Given the description of an element on the screen output the (x, y) to click on. 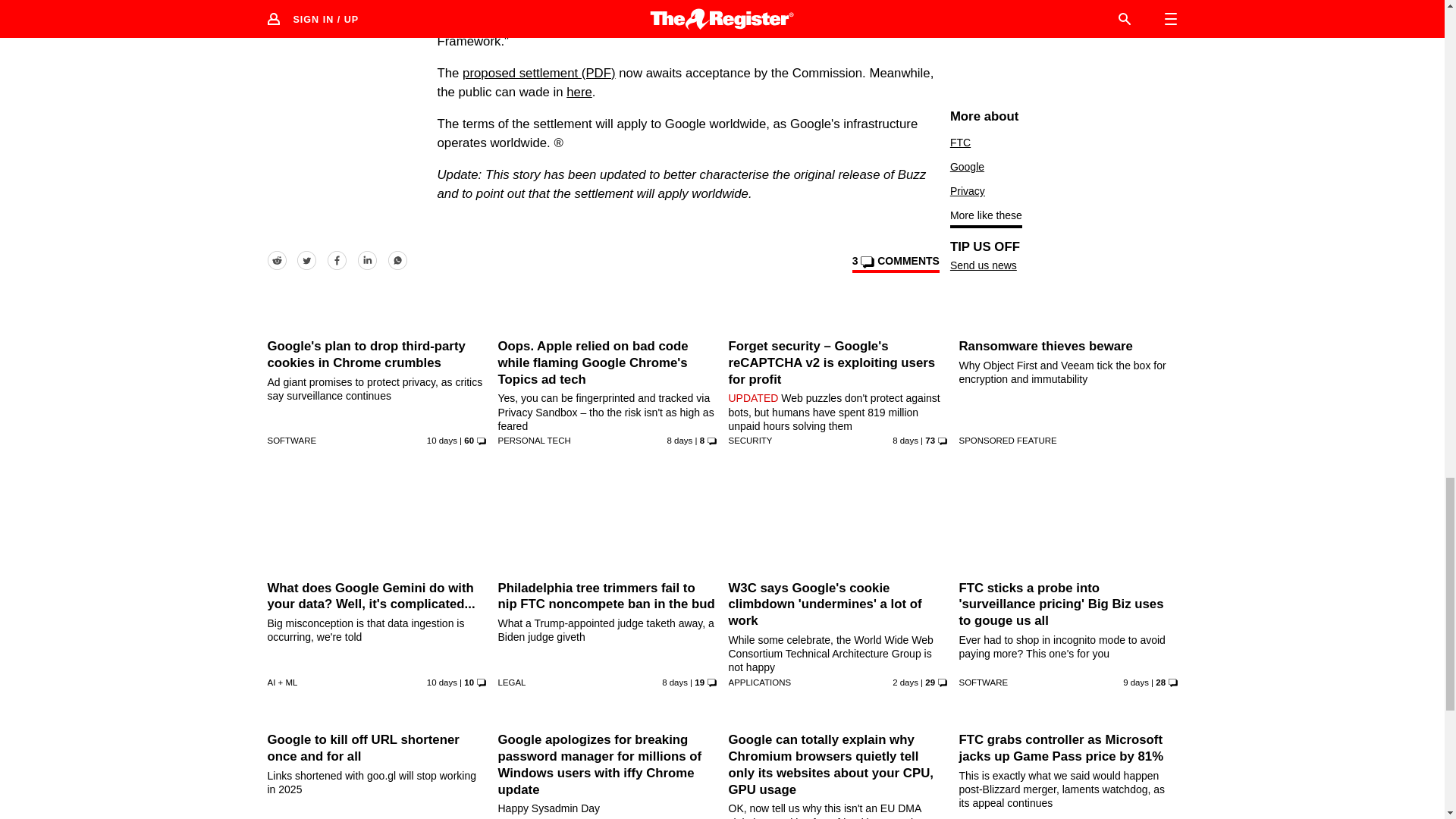
22 Jul 2024 19:15 (441, 682)
24 Jul 2024 6:33 (905, 440)
View comments on this article (895, 263)
30 Jul 2024 13:2 (905, 682)
23 Jul 2024 18:26 (1135, 682)
24 Jul 2024 18:1 (674, 682)
24 Jul 2024 20:44 (679, 440)
23 Jul 2024 0:3 (441, 440)
